Given the description of an element on the screen output the (x, y) to click on. 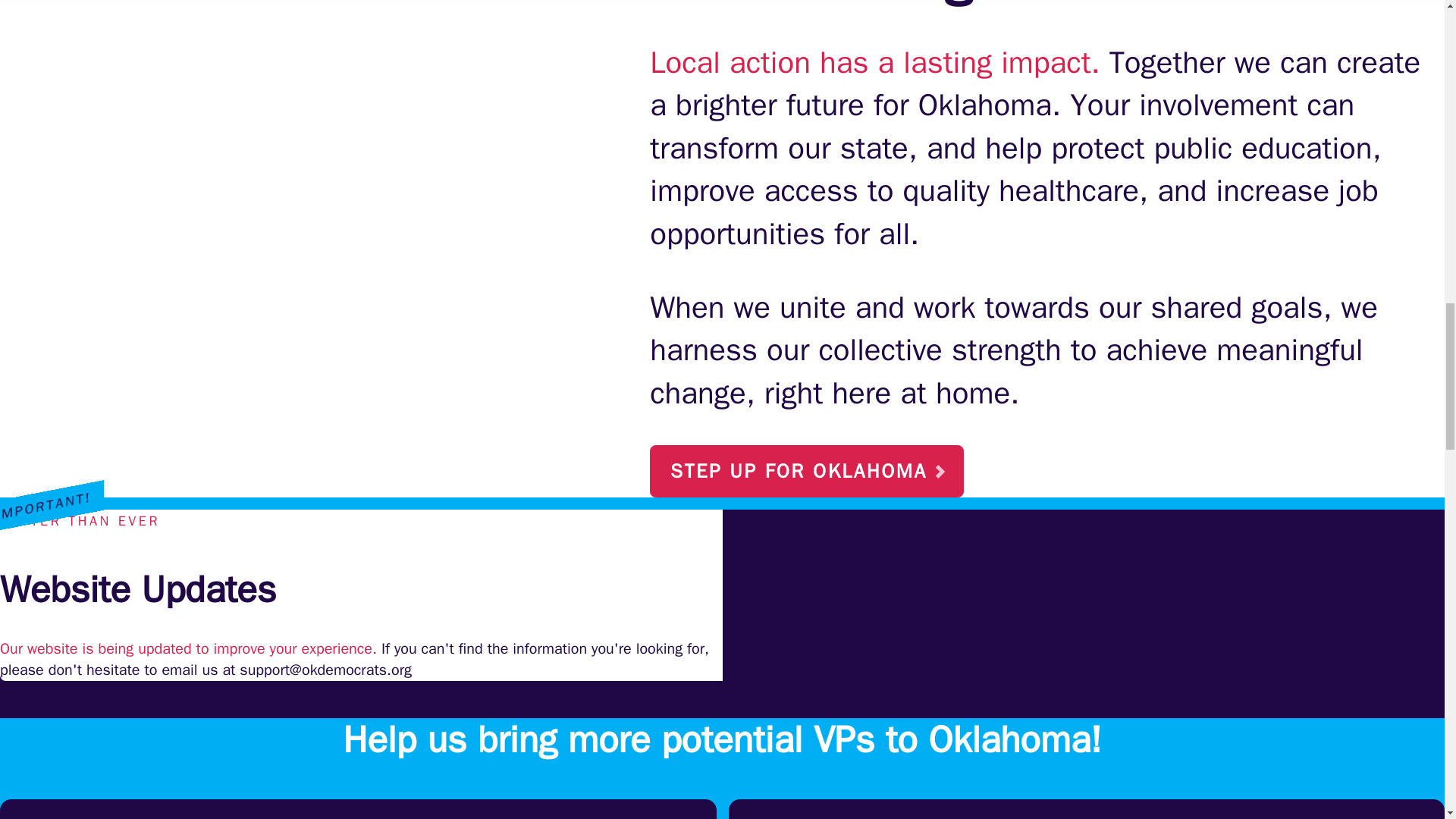
STEP UP FOR OKLAHOMA (806, 470)
STEP UP FOR OKLAHOMA (806, 471)
